Given the description of an element on the screen output the (x, y) to click on. 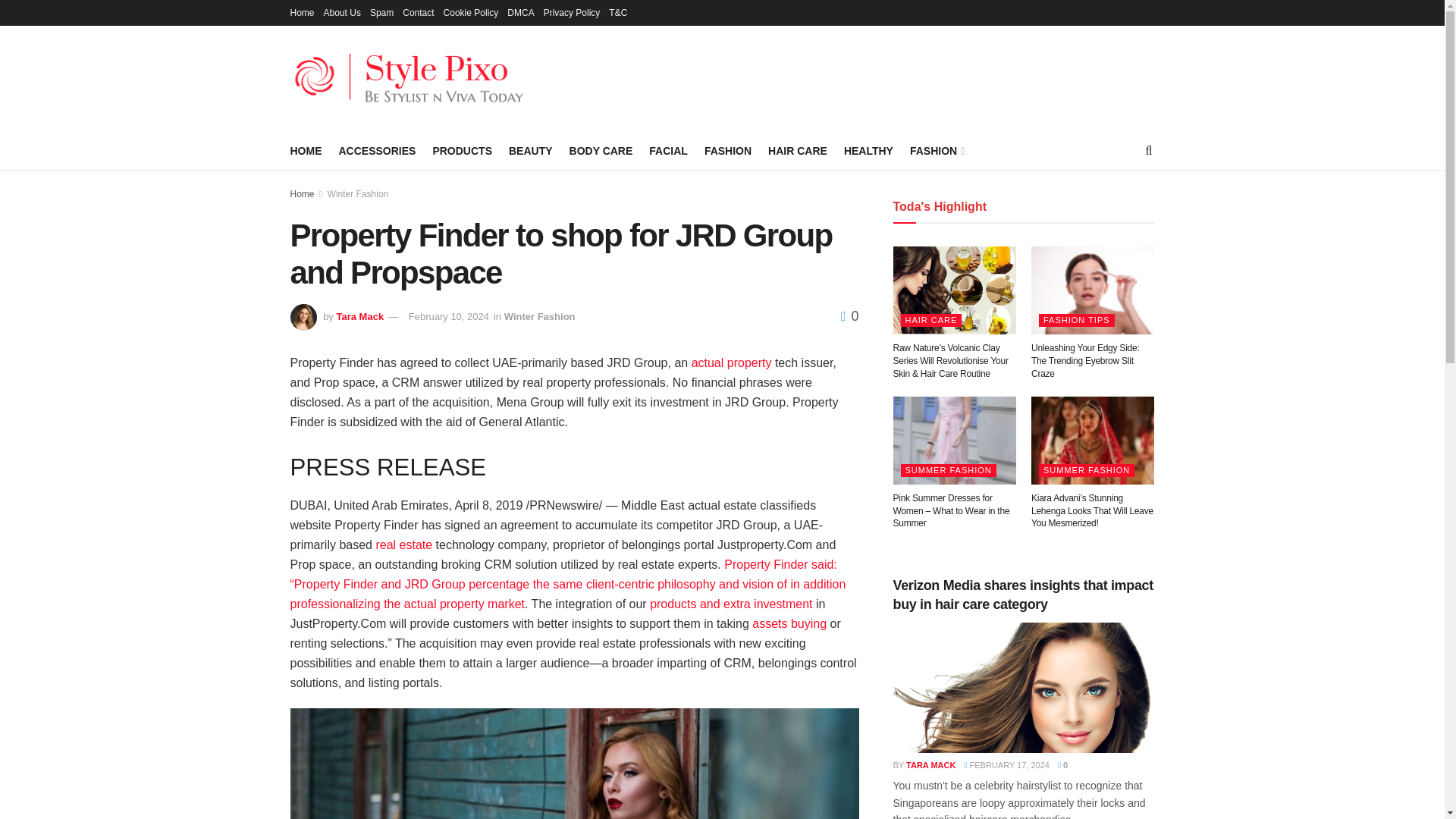
Property Finder to shop for JRD Group and Propspace 1 (574, 763)
Unleashing Your Edgy Side: The Trending Eyebrow Slit Craze 4 (1092, 290)
HOME (305, 150)
Home (301, 12)
About Us (342, 12)
BODY CARE (601, 150)
FASHION (936, 150)
FACIAL (668, 150)
FASHION (727, 150)
Pink Summer Dresses for Women - What to Wear in the Summer 5 (954, 440)
HEALTHY (868, 150)
Spam (381, 12)
PRODUCTS (462, 150)
